Given the description of an element on the screen output the (x, y) to click on. 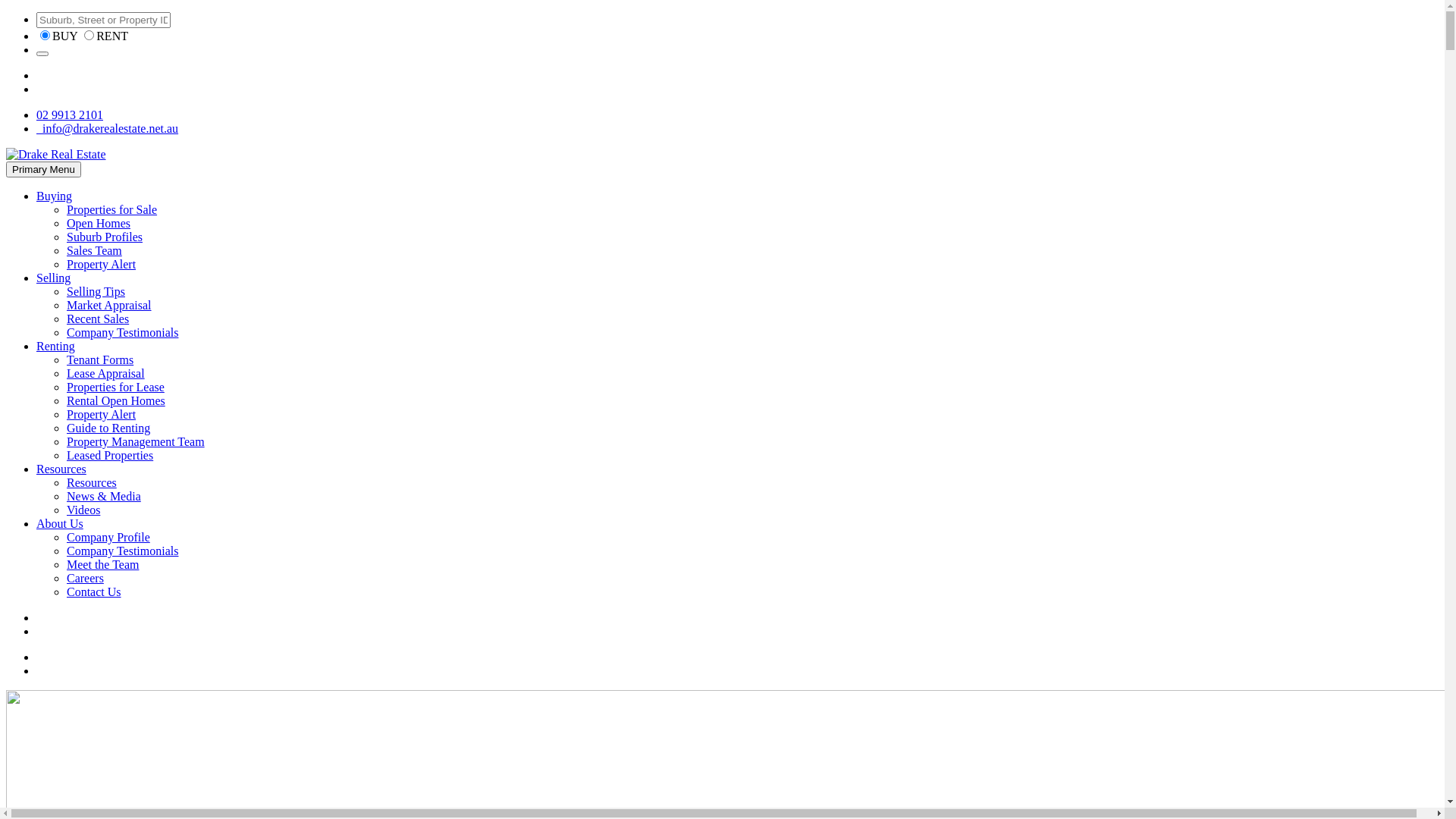
Property Management Team Element type: text (135, 441)
Selling Element type: text (53, 277)
Company Profile Element type: text (108, 536)
Leased Properties Element type: text (109, 454)
Careers Element type: text (84, 577)
Renting Element type: text (55, 345)
Rental Open Homes Element type: text (115, 400)
02 9913 2101 Element type: text (69, 114)
Contact Us Element type: text (93, 591)
Suburb Profiles Element type: text (104, 236)
Resources Element type: text (61, 468)
Lease Appraisal Element type: text (105, 373)
Company Testimonials Element type: text (122, 332)
Videos Element type: text (83, 509)
Selling Tips Element type: text (95, 291)
Buying Element type: text (54, 195)
Market Appraisal Element type: text (108, 304)
Tenant Forms Element type: text (99, 359)
Properties for Sale Element type: text (111, 209)
About Us Element type: text (59, 523)
Resources Element type: text (91, 482)
Company Testimonials Element type: text (122, 550)
Meet the Team Element type: text (102, 564)
Guide to Renting Element type: text (108, 427)
News & Media Element type: text (103, 495)
Properties for Lease Element type: text (115, 386)
  info@drakerealestate.net.au Element type: text (107, 128)
Recent Sales Element type: text (97, 318)
Sales Team Element type: text (94, 250)
Property Alert Element type: text (100, 263)
Primary Menu Element type: text (43, 169)
Property Alert Element type: text (100, 413)
Open Homes Element type: text (98, 222)
